Given the description of an element on the screen output the (x, y) to click on. 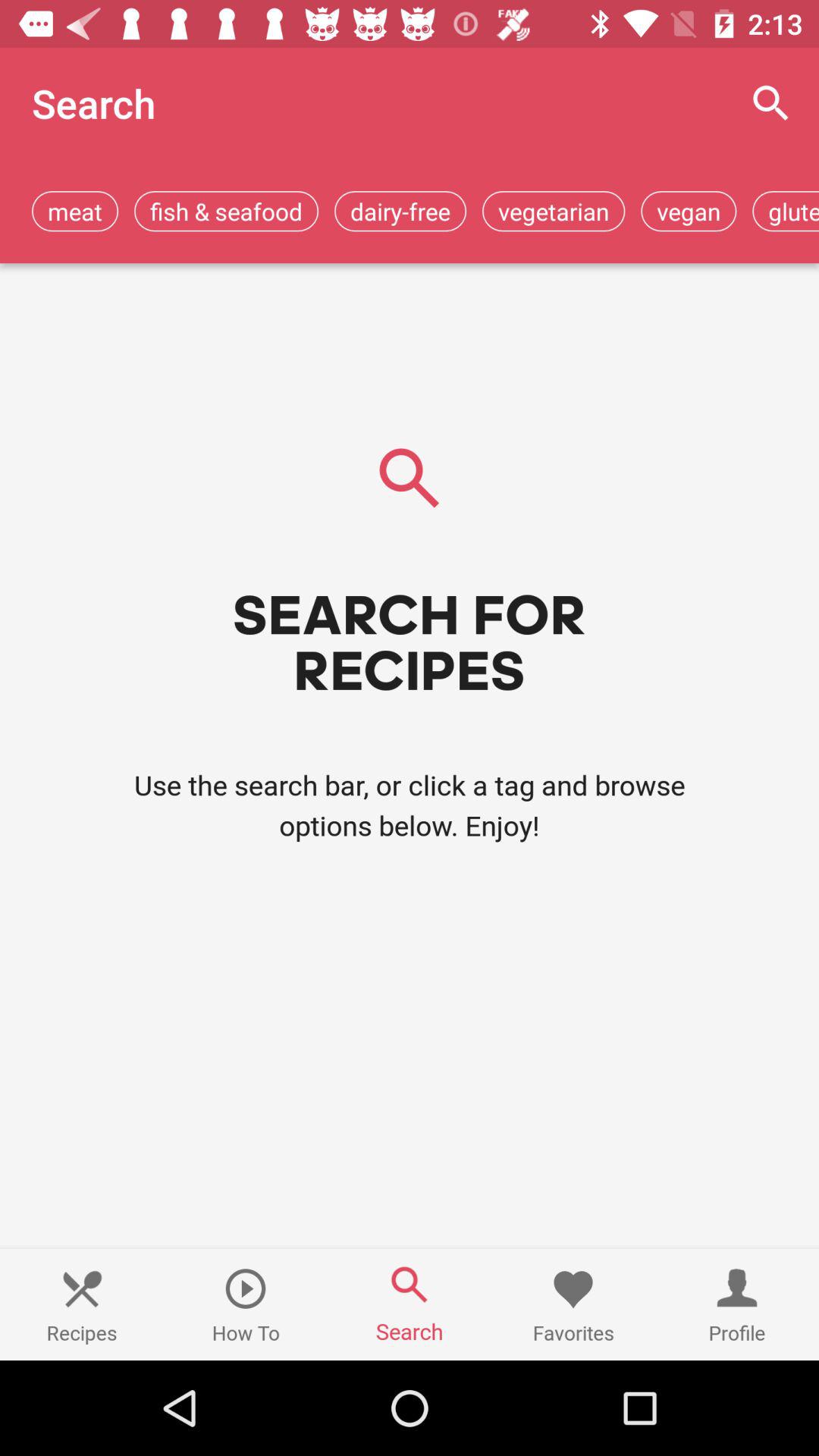
turn on app to the left of gluten-free app (688, 211)
